Given the description of an element on the screen output the (x, y) to click on. 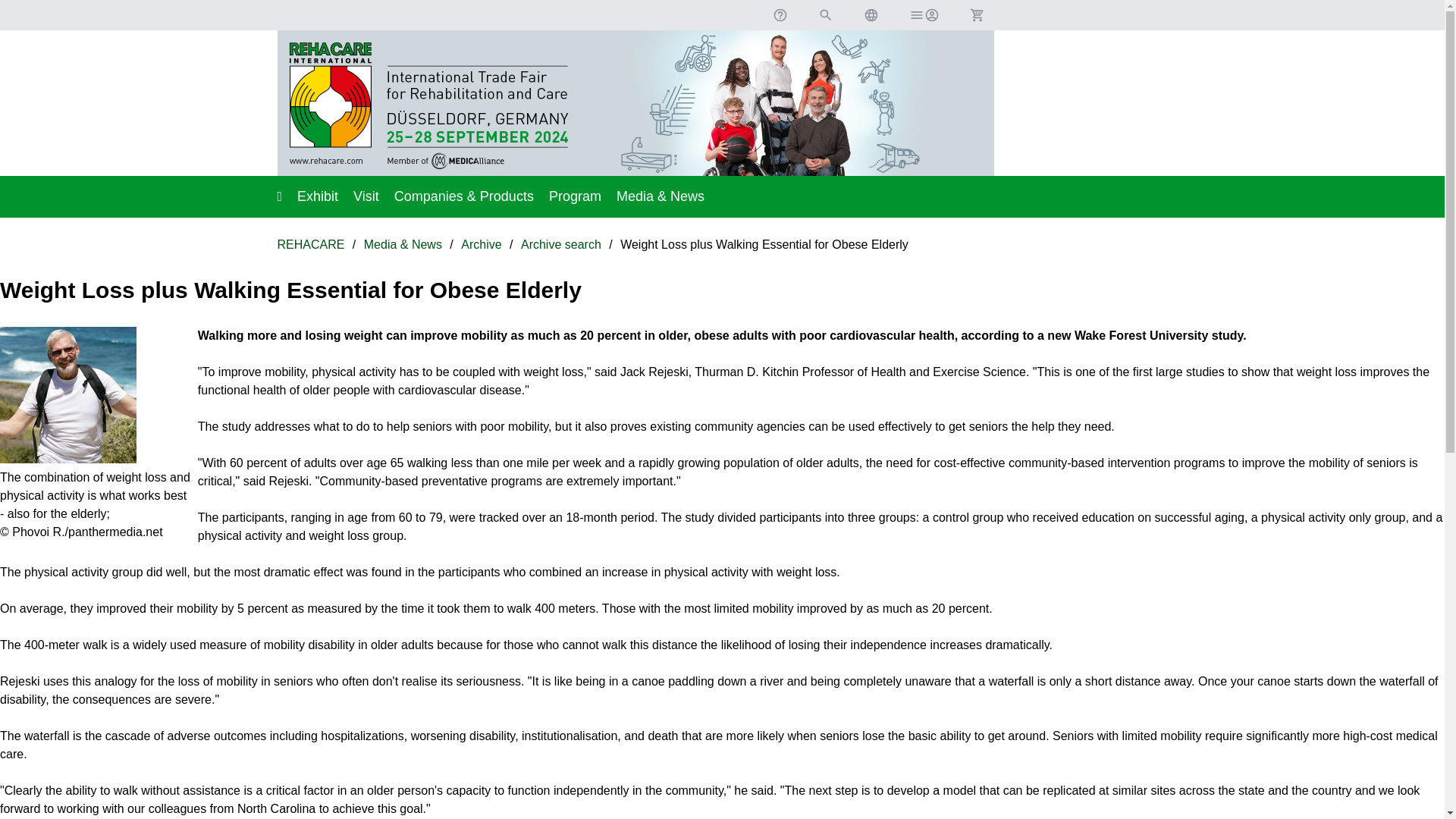
Ticket shop (975, 14)
Search (824, 14)
English (870, 14)
Support (779, 14)
Login (923, 14)
